Given the description of an element on the screen output the (x, y) to click on. 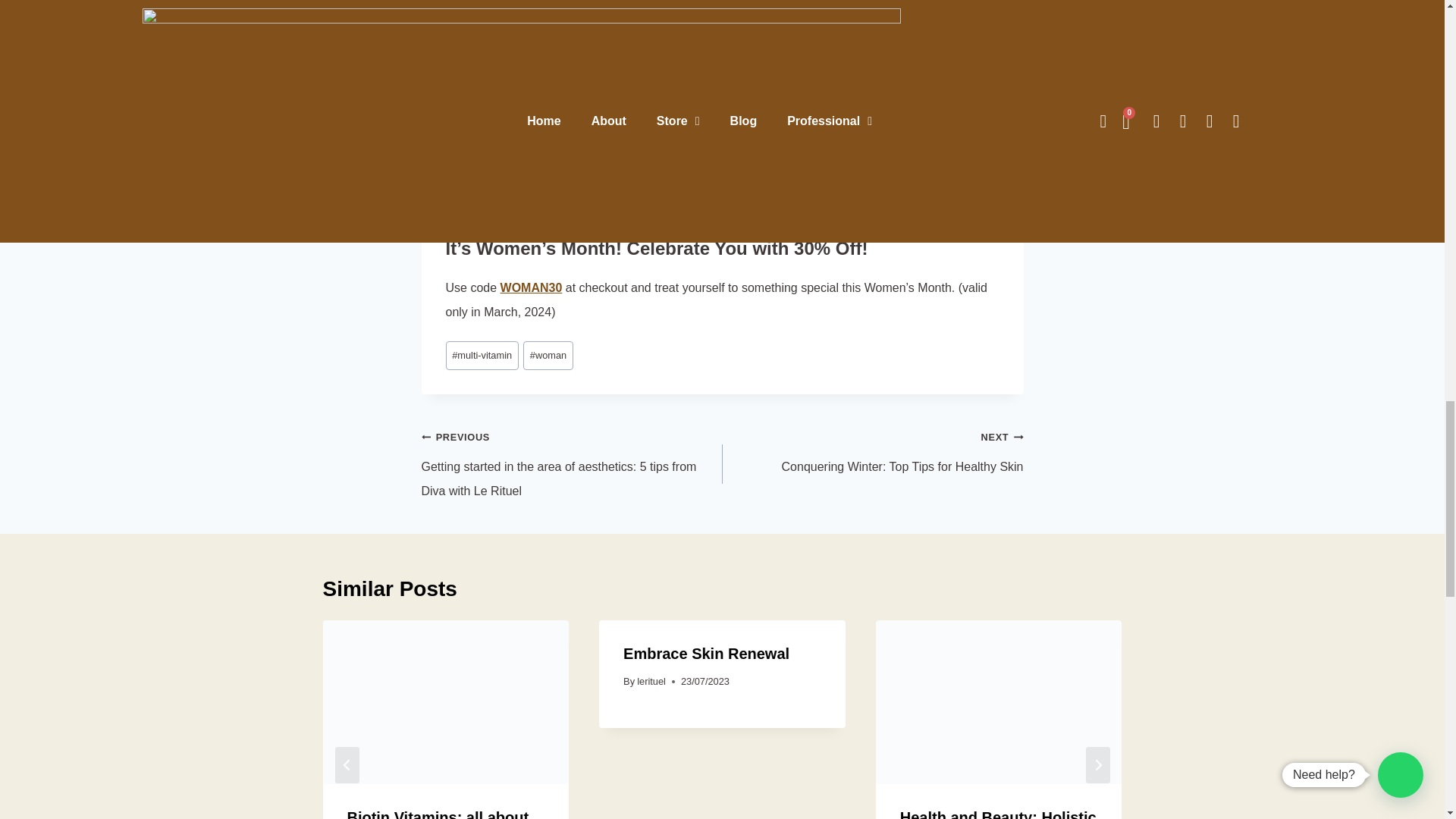
woman (547, 355)
multi-vitamin (481, 355)
